Given the description of an element on the screen output the (x, y) to click on. 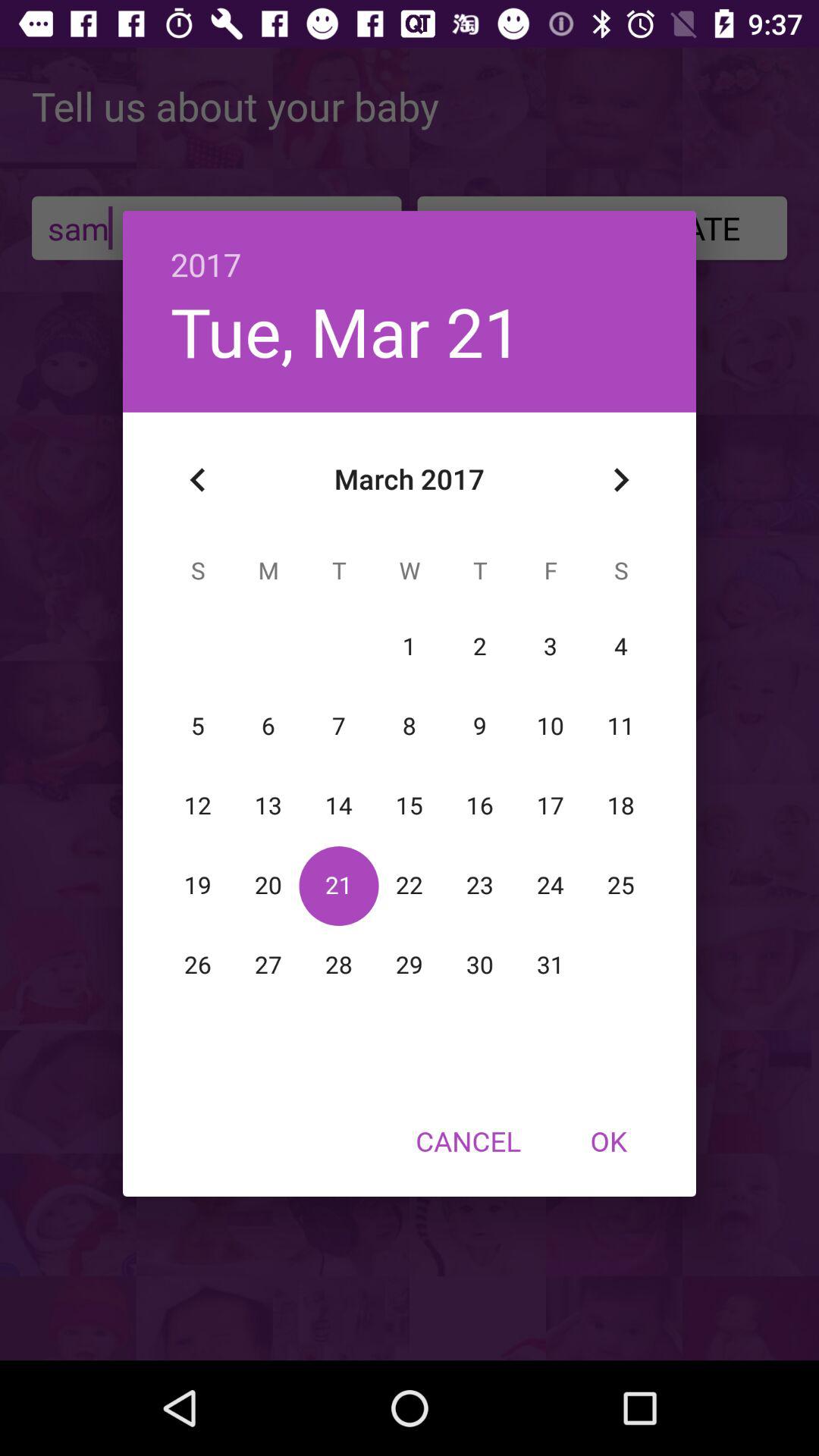
click 2017 icon (409, 248)
